Given the description of an element on the screen output the (x, y) to click on. 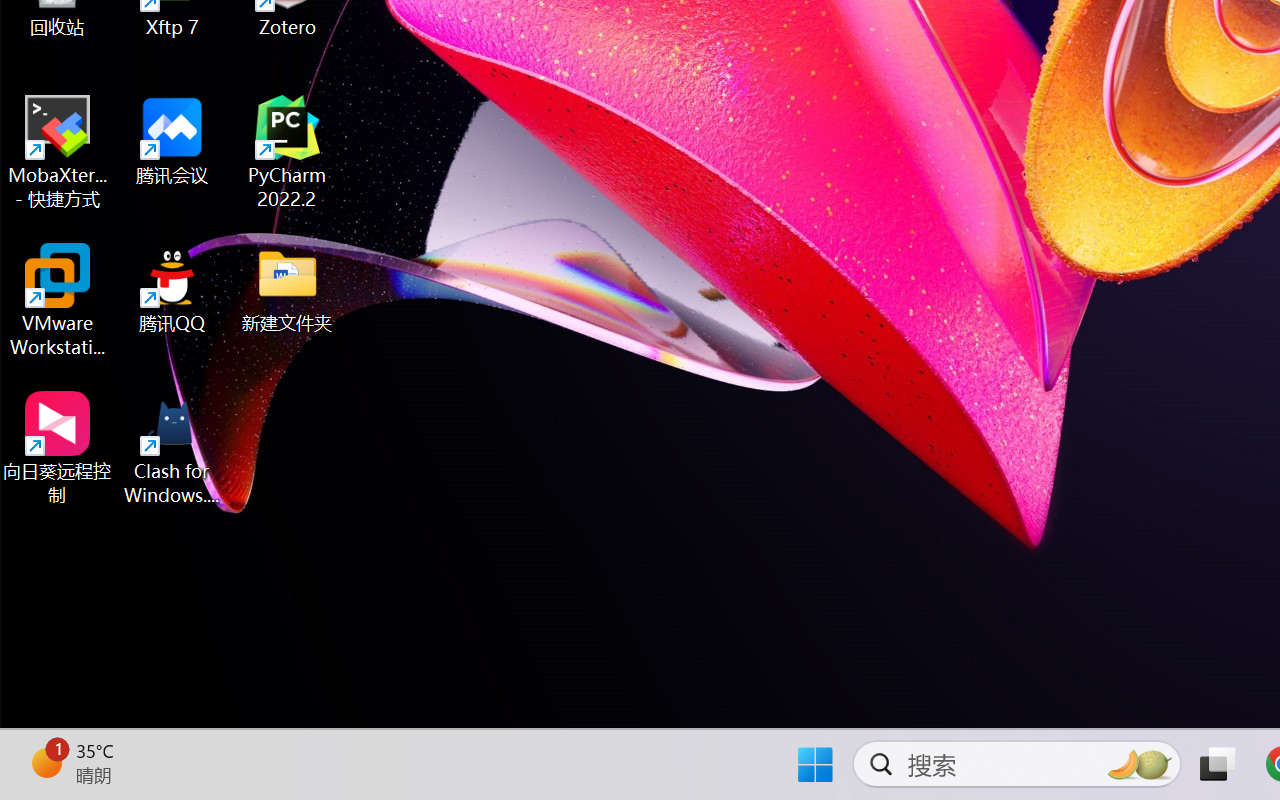
VMware Workstation Pro (57, 300)
PyCharm 2022.2 (287, 152)
